Given the description of an element on the screen output the (x, y) to click on. 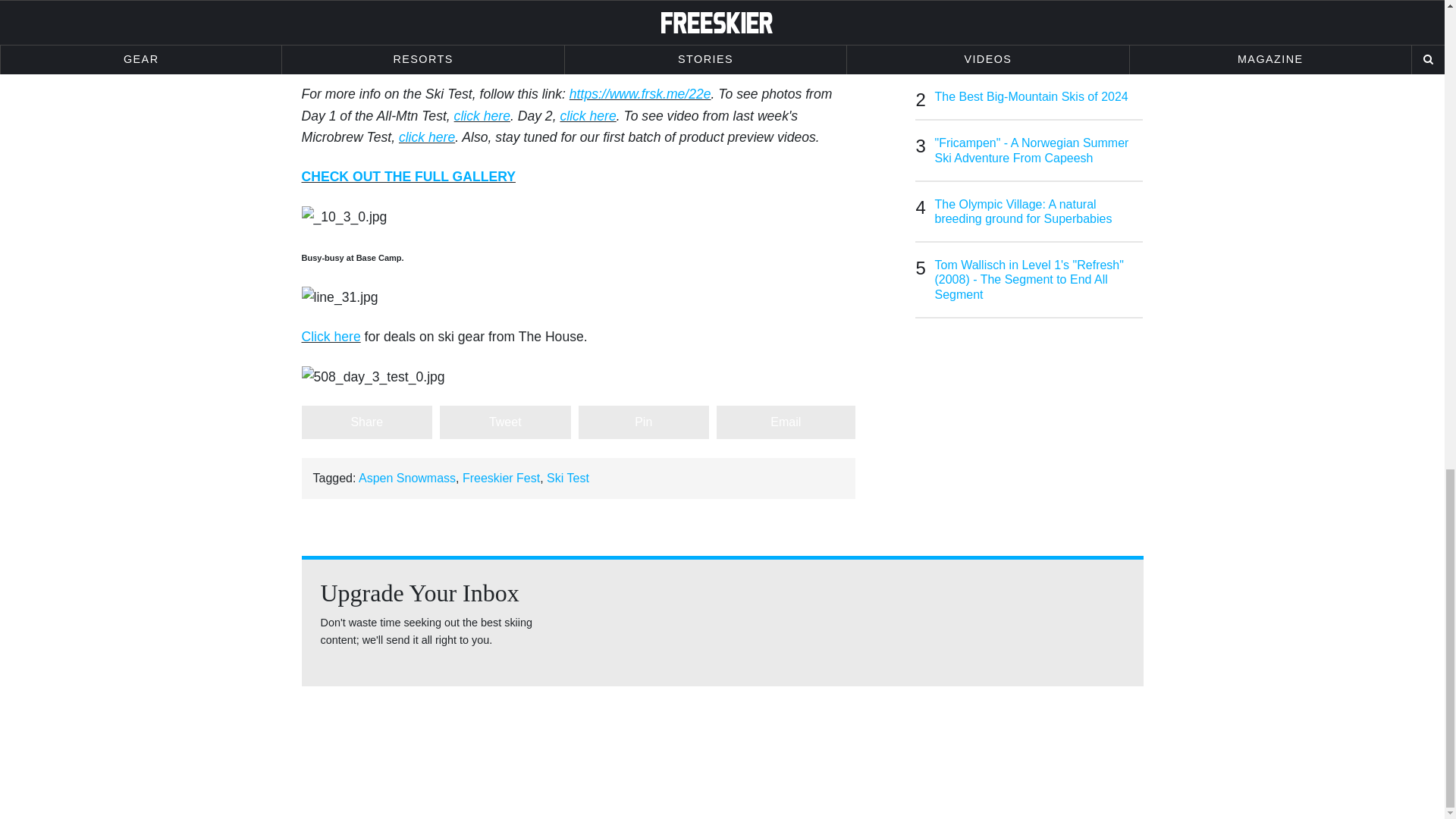
The Best Big-Mountain Skis of 2024 (1038, 96)
"Fricampen" - A Norwegian Summer Ski Adventure From Capeesh (1038, 149)
CHECK OUT THE FULL GALLERY (408, 176)
click here (426, 136)
Ski Test (568, 477)
Aspen Snowmass (406, 477)
Click here (331, 336)
Freeskier Fest (501, 477)
click here (482, 115)
click here (587, 115)
